Given the description of an element on the screen output the (x, y) to click on. 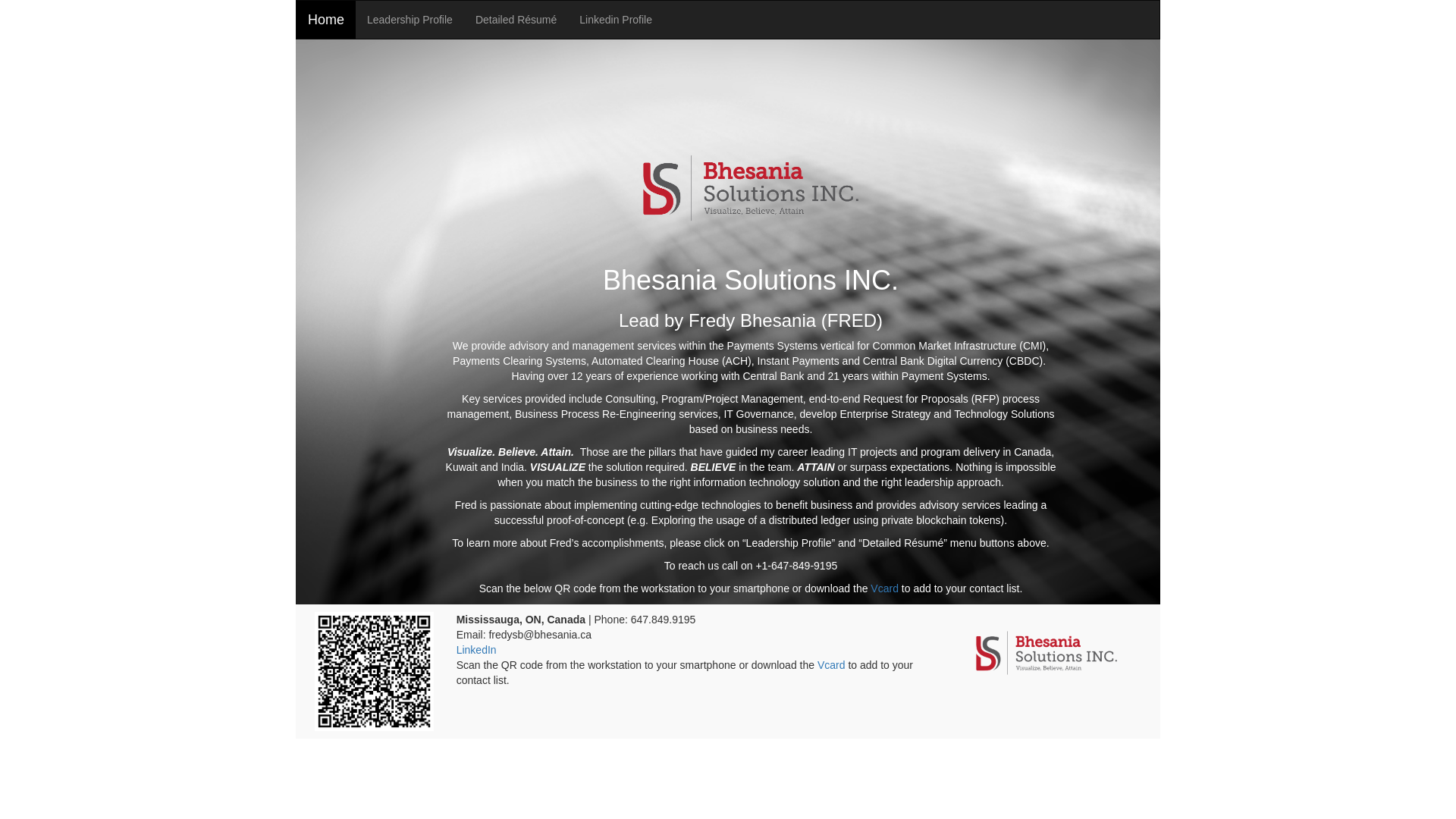
Vcard Element type: text (831, 664)
Linkedin Profile Element type: text (615, 19)
LinkedIn Element type: text (476, 649)
Leadership Profile Element type: text (409, 19)
Vcard Element type: text (884, 588)
Home Element type: text (325, 19)
